Given the description of an element on the screen output the (x, y) to click on. 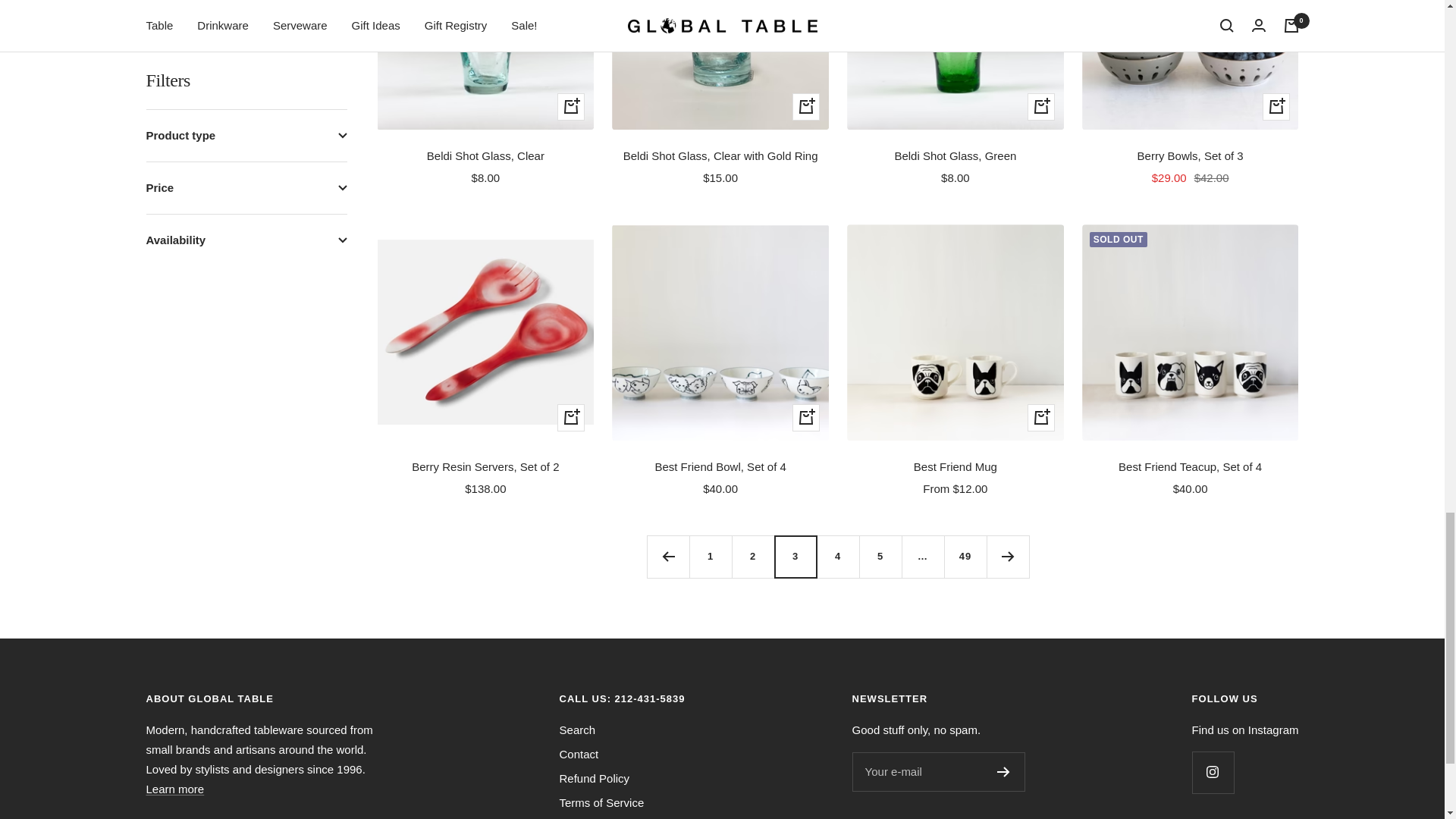
About Global Table (174, 788)
Register (1003, 771)
